Given the description of an element on the screen output the (x, y) to click on. 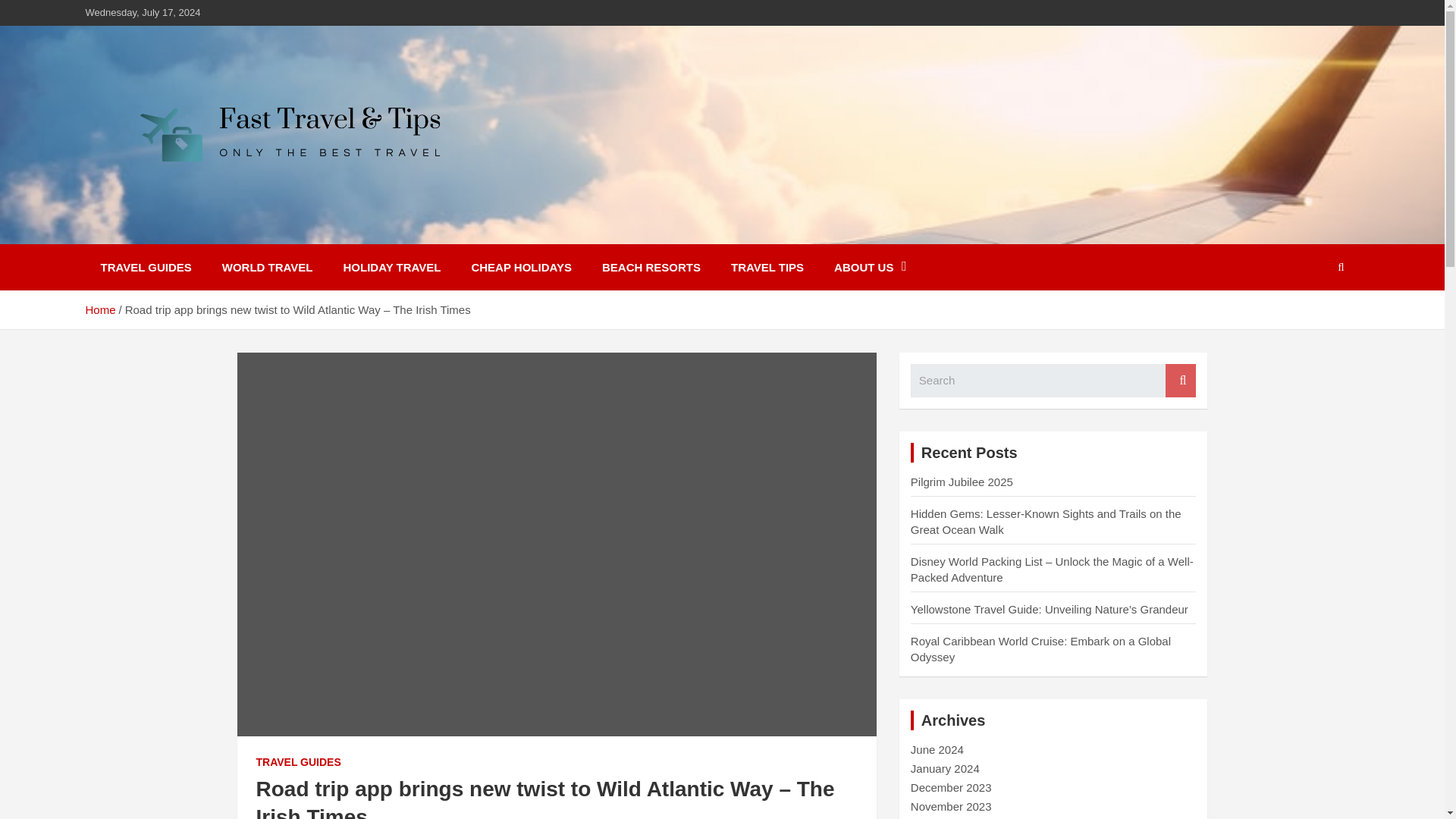
CHEAP HOLIDAYS (520, 267)
HOLIDAY TRAVEL (393, 267)
BEACH RESORTS (651, 267)
ABOUT US (869, 267)
Home (99, 309)
TRAVEL TIPS (767, 267)
June 2024 (937, 748)
Royal Caribbean World Cruise: Embark on a Global Odyssey (1040, 648)
December 2023 (951, 787)
TRAVEL GUIDES (298, 762)
TRAVEL GUIDES (145, 267)
WORLD TRAVEL (267, 267)
January 2024 (945, 768)
Pilgrim Jubilee 2025 (962, 481)
